Given the description of an element on the screen output the (x, y) to click on. 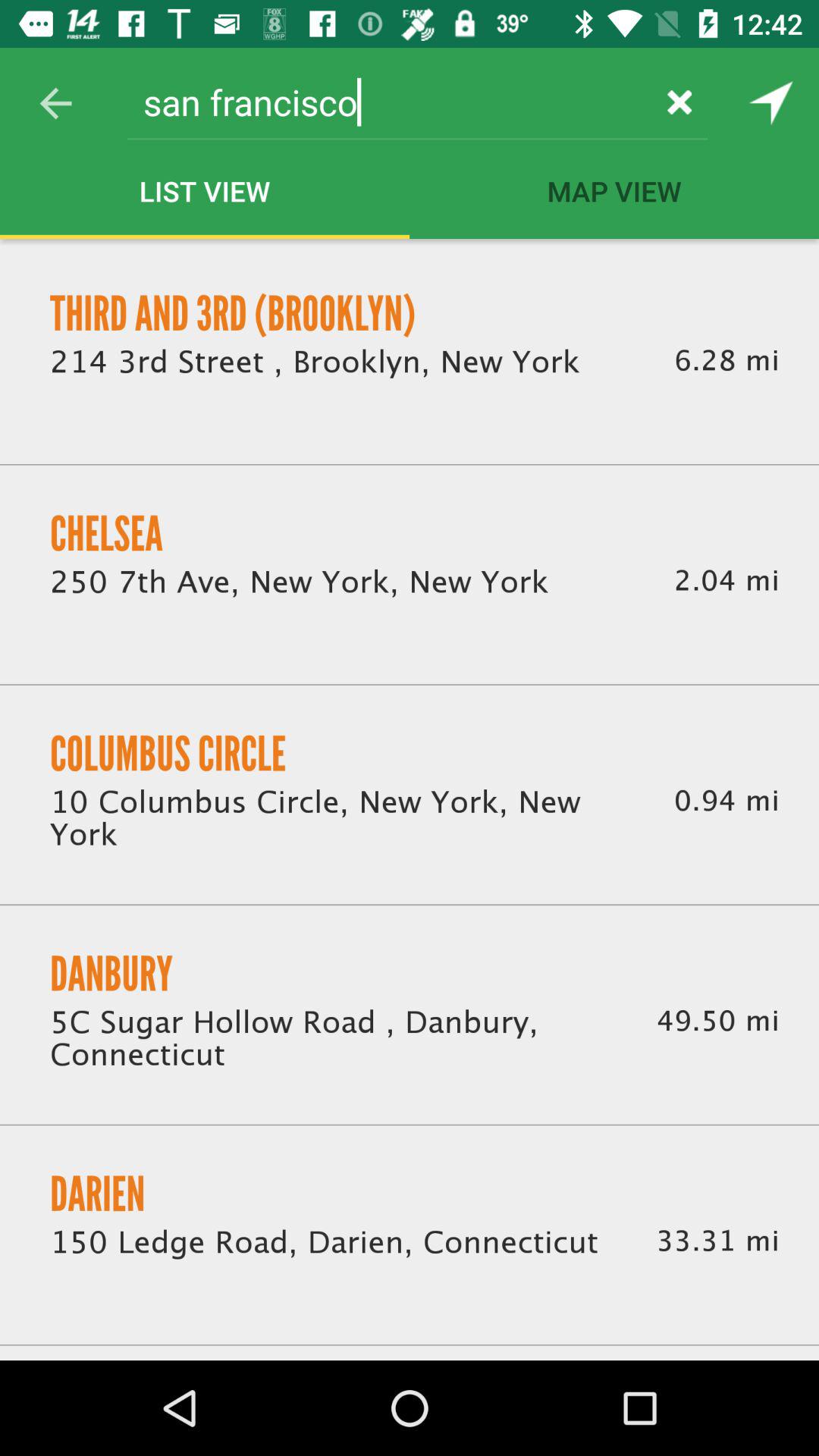
flip to the 0.94 mi item (726, 800)
